Given the description of an element on the screen output the (x, y) to click on. 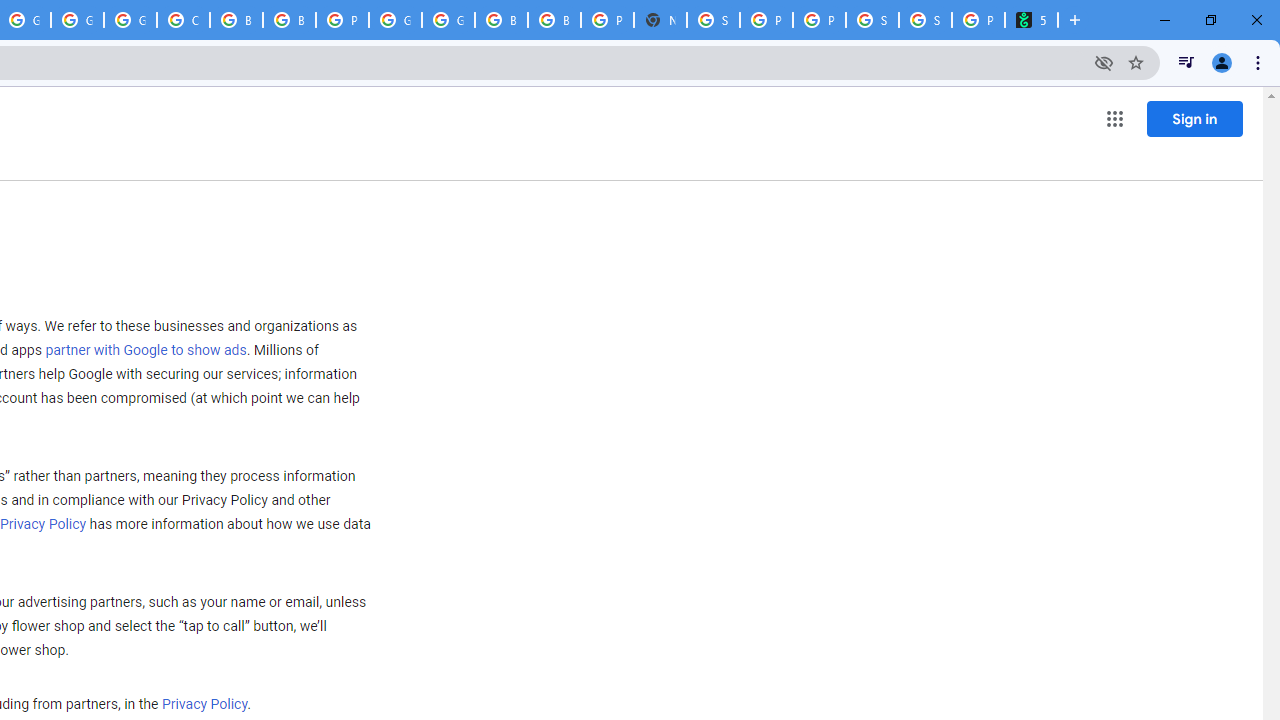
Google Cloud Platform (395, 20)
